Given the description of an element on the screen output the (x, y) to click on. 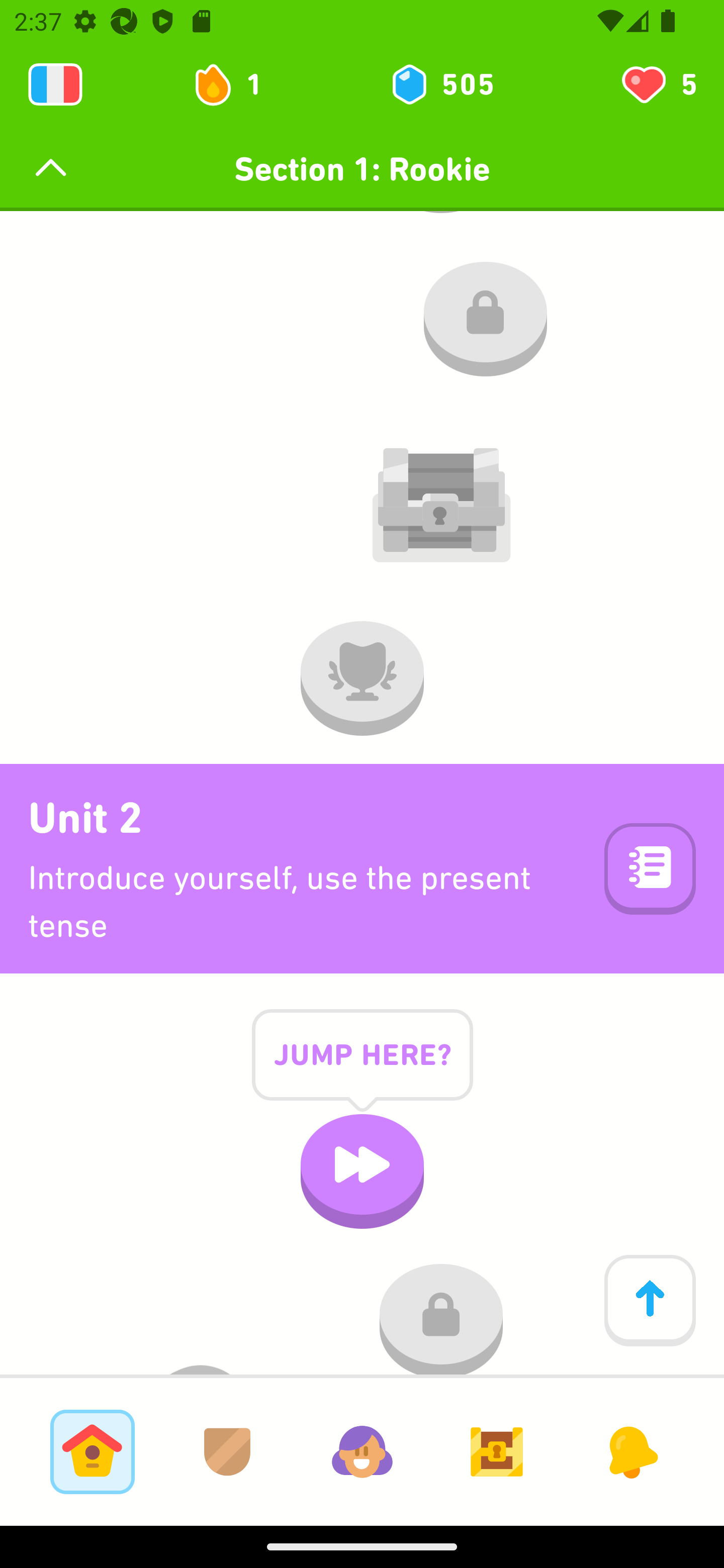
Learning 2131888976 (55, 84)
1 day streak 1 (236, 84)
505 (441, 84)
You have 5 hearts left 5 (657, 84)
Section 1: Rookie (362, 169)
JUMP HERE? (361, 1069)
Learn Tab (91, 1451)
Leagues Tab (227, 1451)
Profile Tab (361, 1451)
Goals Tab (496, 1451)
News Tab (631, 1451)
